Given the description of an element on the screen output the (x, y) to click on. 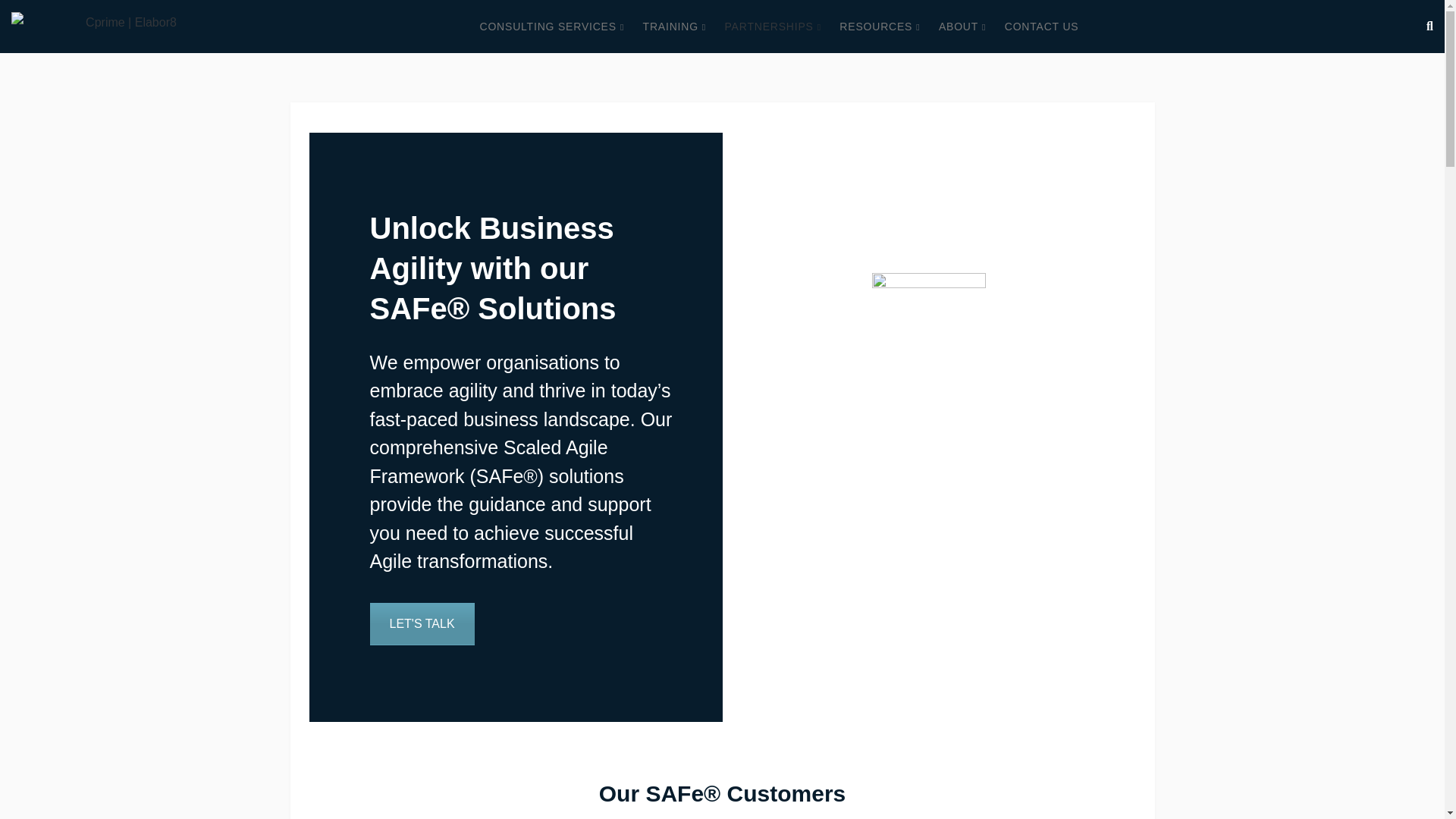
LET'S TALK (421, 623)
TRAINING (674, 26)
CONTACT US (1041, 26)
CONSULTING SERVICES (552, 26)
RESOURCES (880, 26)
PARTNERSHIPS (772, 26)
